Given the description of an element on the screen output the (x, y) to click on. 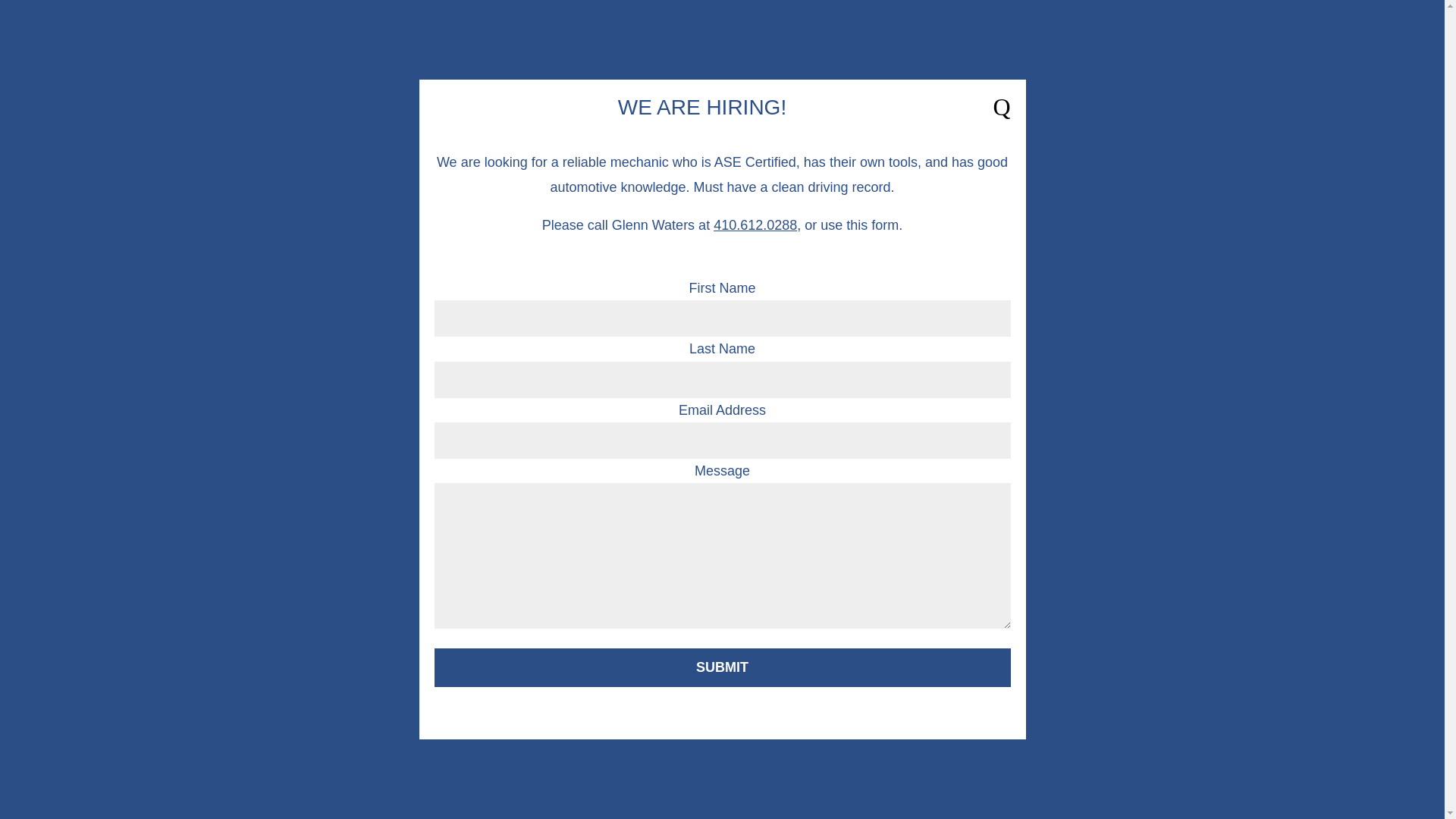
Contact Us (984, 119)
Towing (927, 490)
Maintenance (656, 490)
Services (355, 490)
Services (516, 119)
Vehicle Maintenance (621, 119)
Home (455, 119)
Towing (721, 119)
410.612.0288 (754, 224)
Submit (721, 667)
Submit (721, 667)
Automotive Maintenance Tips (847, 119)
